Given the description of an element on the screen output the (x, y) to click on. 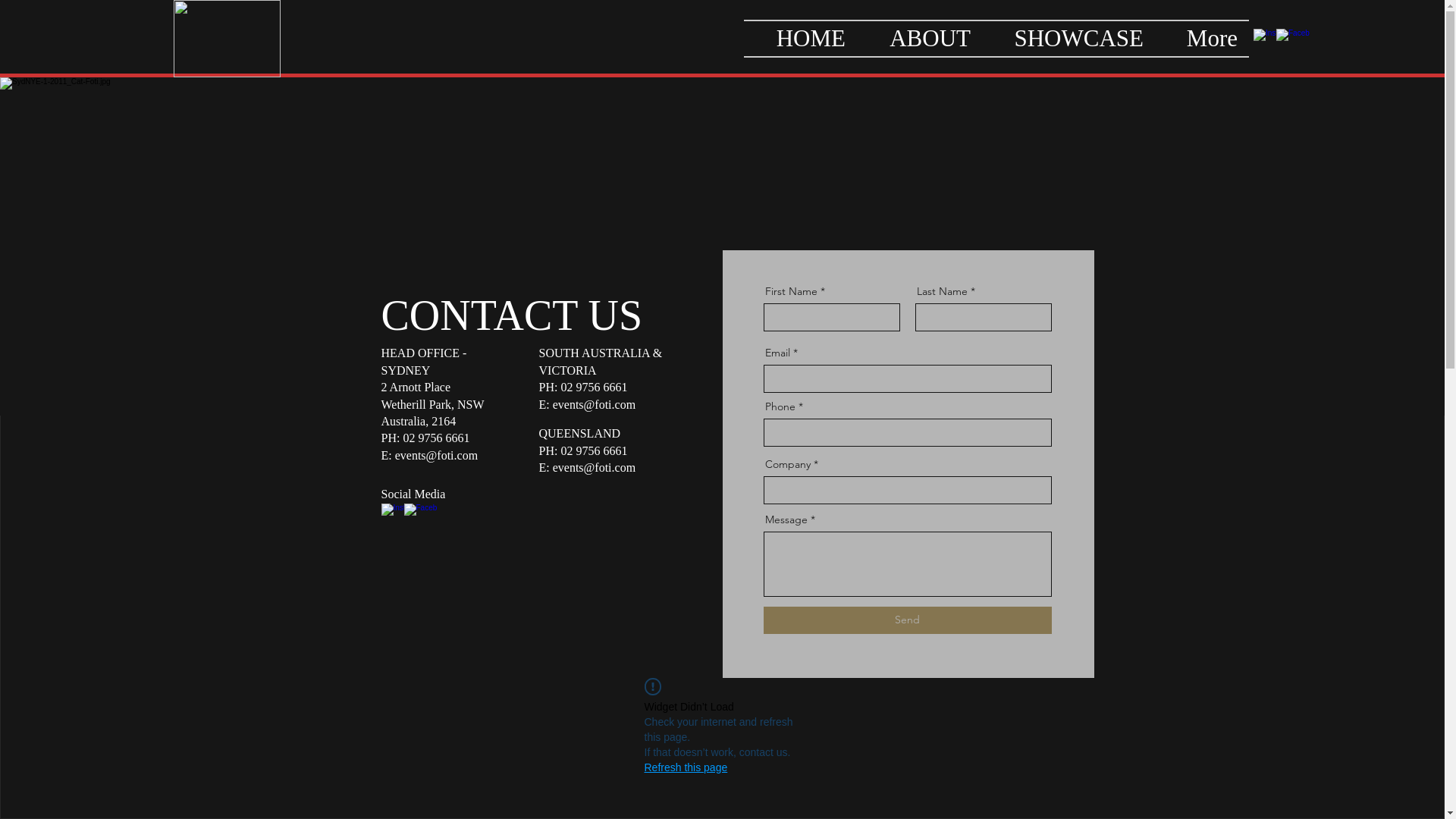
SHOWCASE Element type: text (1068, 38)
FOTI_Foti only-REVERSED.png Element type: hover (226, 38)
events@foti.com Element type: text (593, 404)
events@foti.com Element type: text (593, 467)
HOME Element type: text (799, 38)
events@foti.com Element type: text (436, 454)
Send Element type: text (906, 619)
ABOUT Element type: text (919, 38)
Refresh this page Element type: text (686, 767)
